Given the description of an element on the screen output the (x, y) to click on. 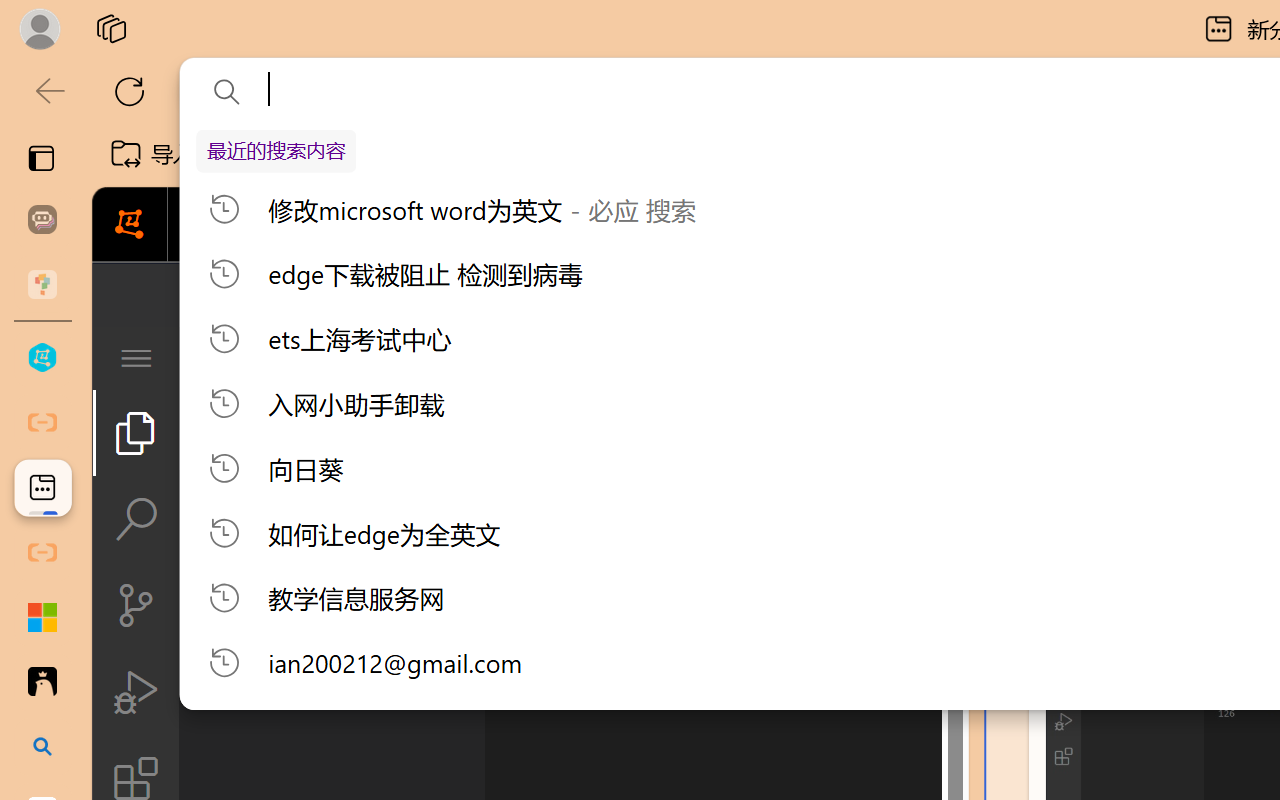
Views and More Actions... (442, 357)
Gmail (637, 154)
SJTUvpn (774, 154)
sample_500k.py (619, 358)
Source Control (Ctrl+Shift+G) (135, 604)
Explorer Section: wangyian (331, 409)
Search (Ctrl+Shift+F) (135, 519)
